Given the description of an element on the screen output the (x, y) to click on. 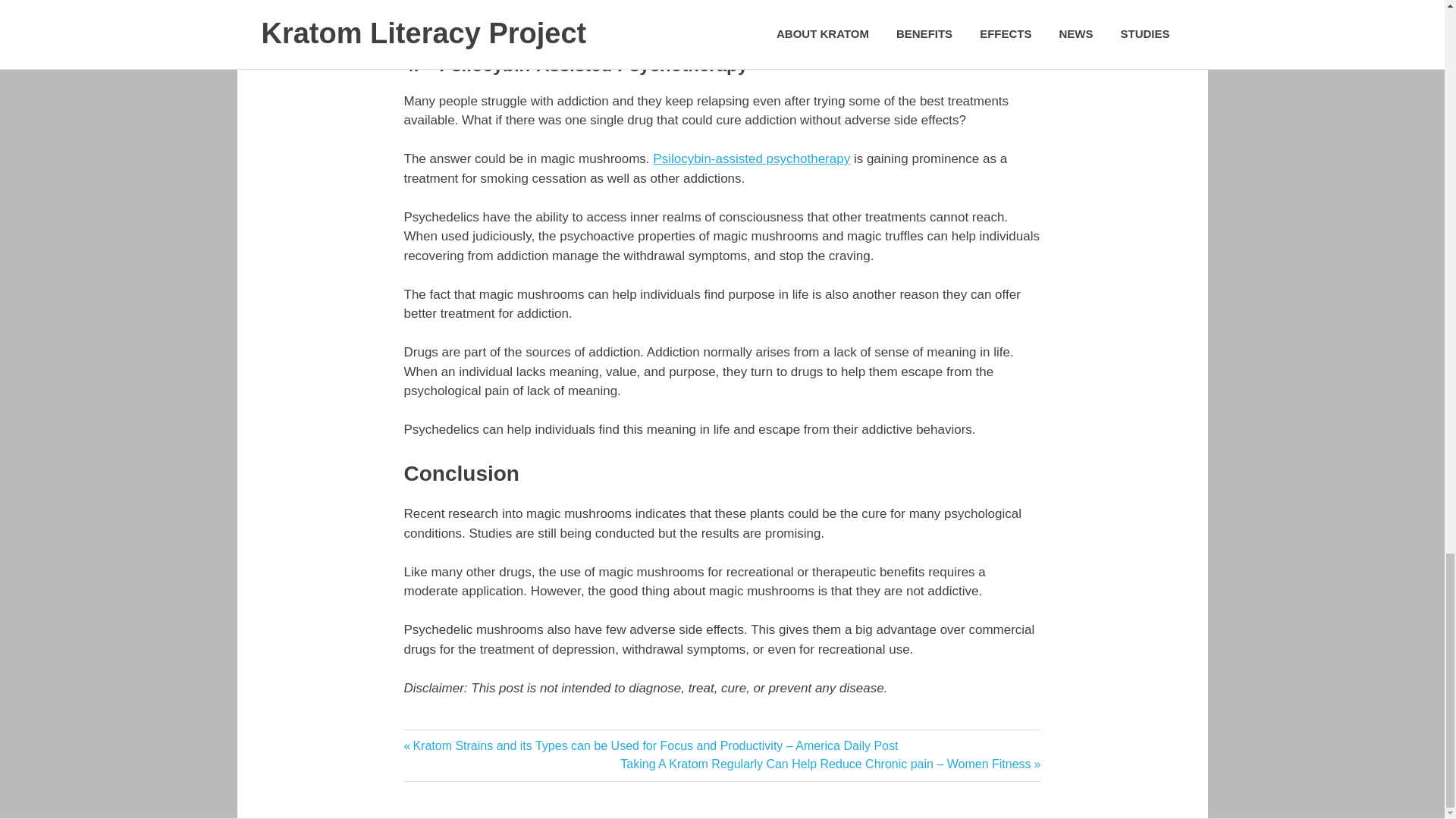
Psilocybin-assisted psychotherapy (751, 158)
